Given the description of an element on the screen output the (x, y) to click on. 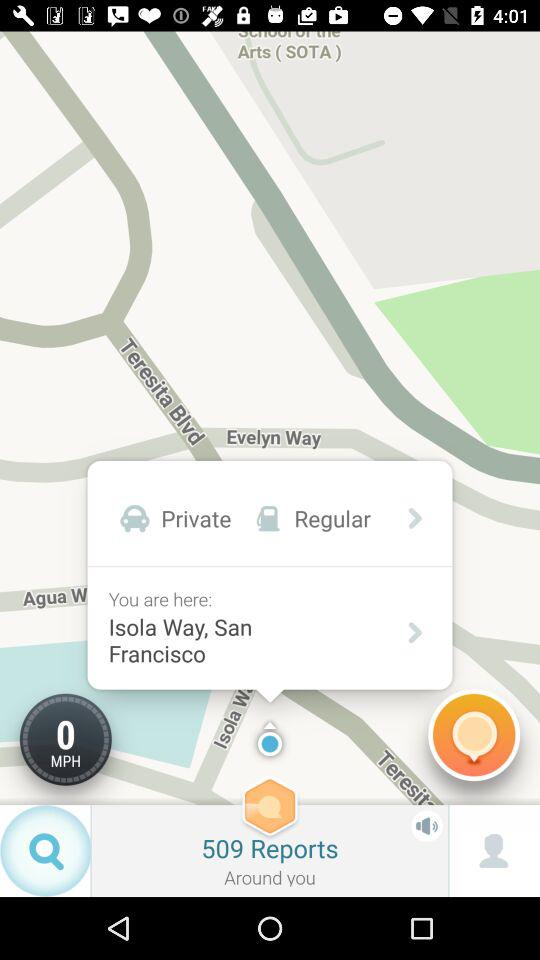
click on speaker image (426, 825)
click on the search icon (52, 849)
click on the search icon (45, 850)
